Given the description of an element on the screen output the (x, y) to click on. 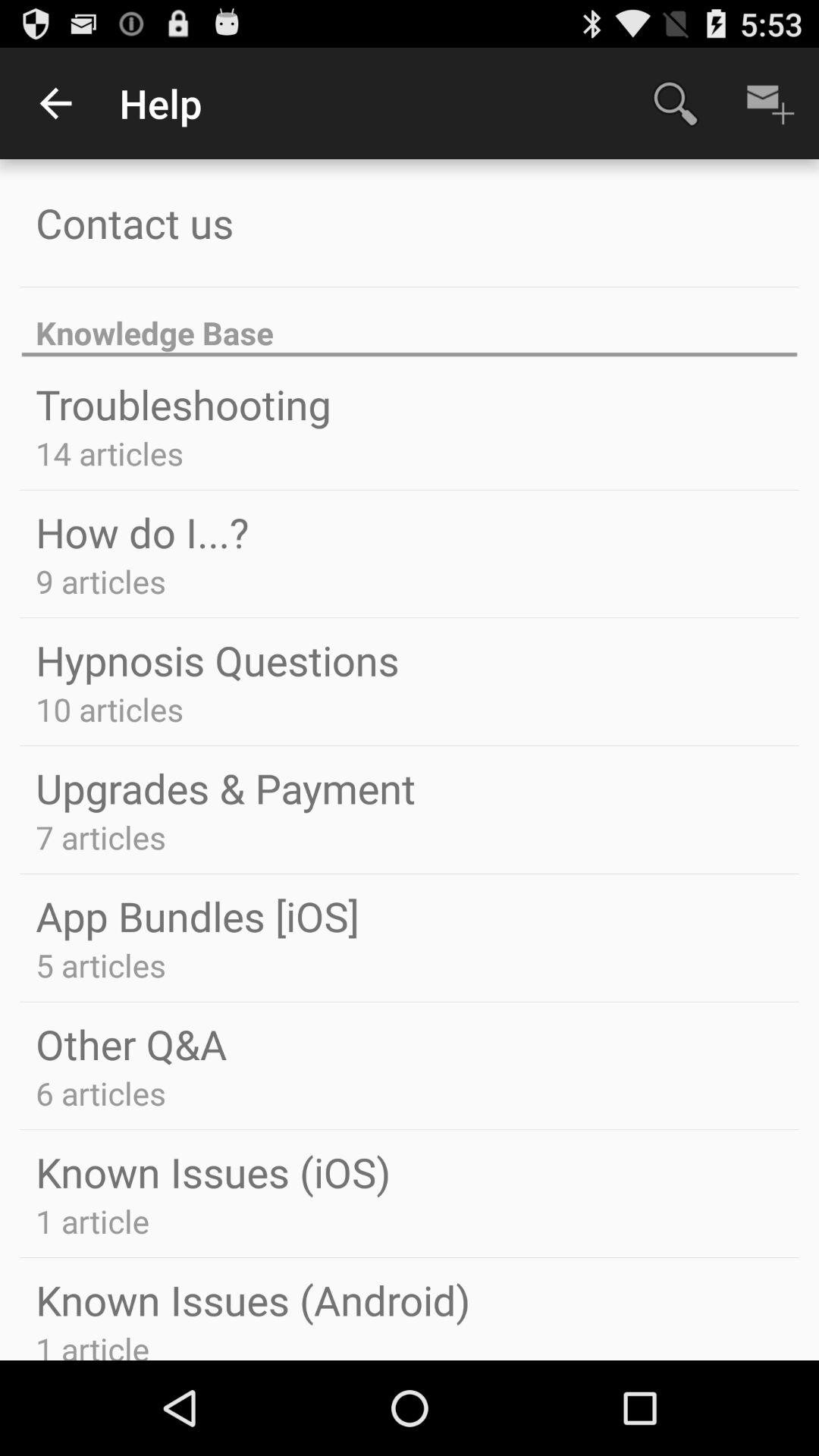
choose the app below the troubleshooting icon (109, 452)
